Given the description of an element on the screen output the (x, y) to click on. 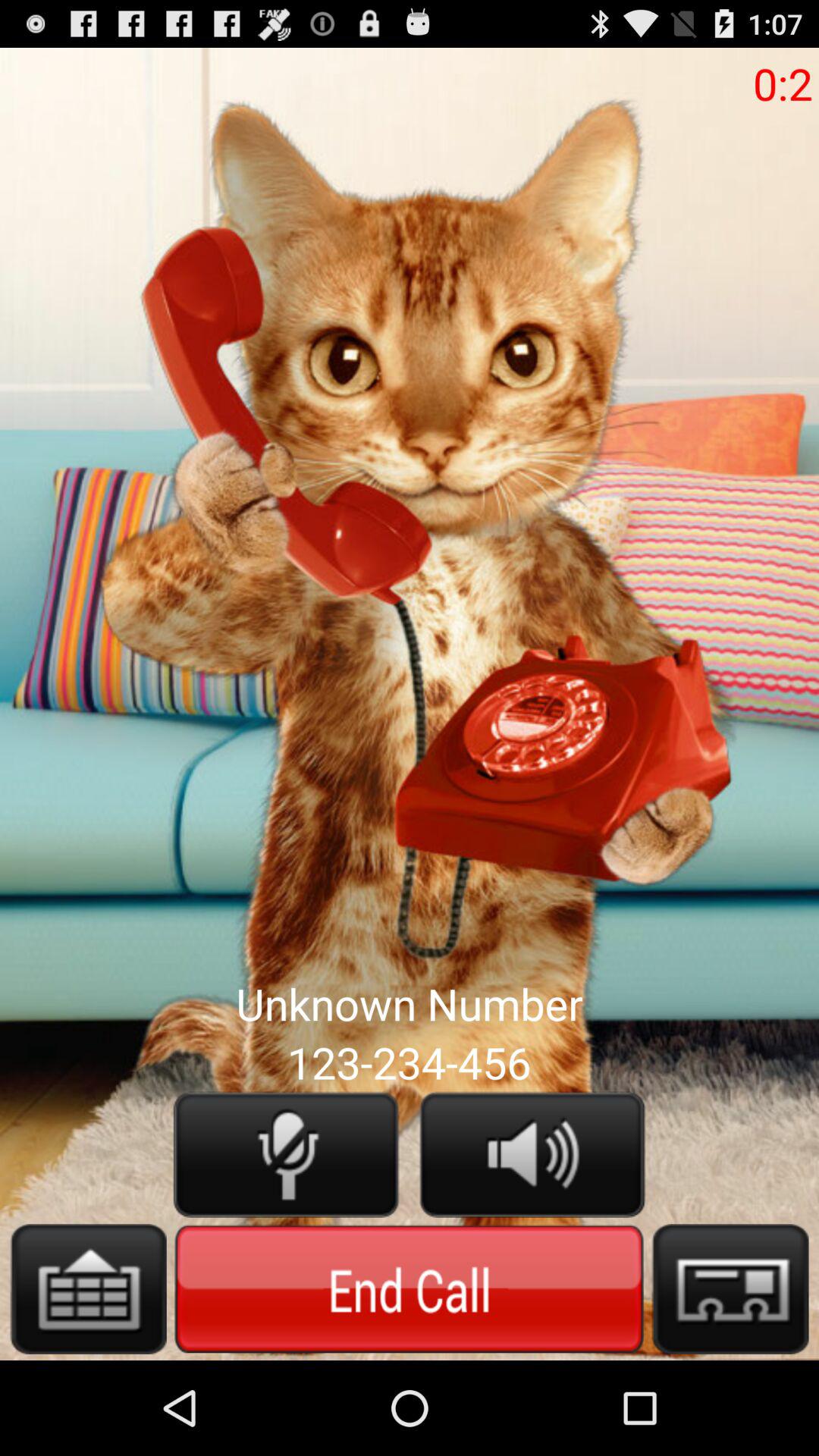
end call (408, 1288)
